Given the description of an element on the screen output the (x, y) to click on. 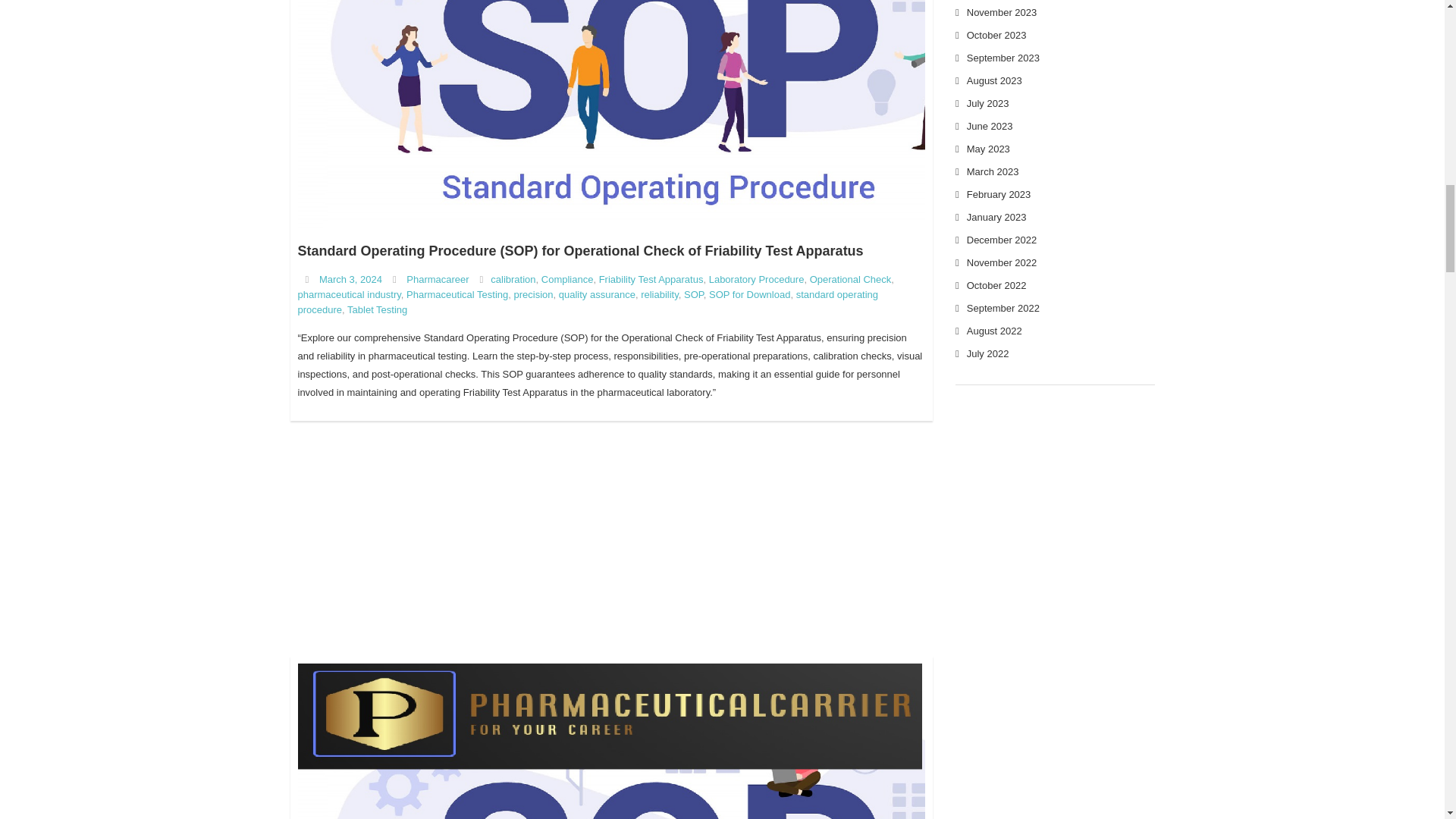
View all posts by Pharmacareer (437, 279)
10:54 am (349, 279)
